Given the description of an element on the screen output the (x, y) to click on. 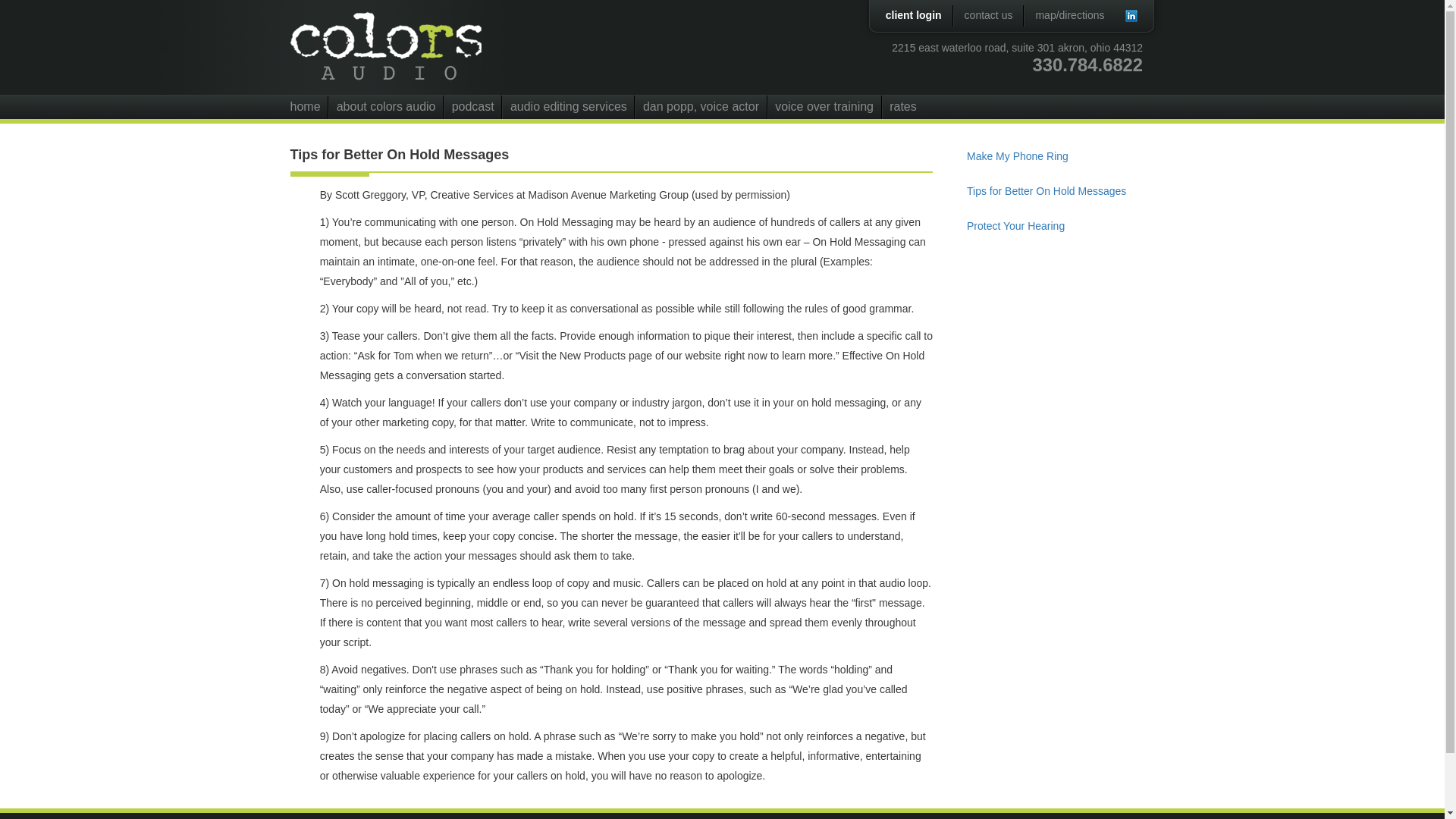
podcast (472, 106)
Contact Us (988, 15)
client login (913, 15)
Home (425, 47)
Protect Your Hearing (1054, 225)
Find Colors Audio on LinkedIn (1131, 15)
Client Login (913, 15)
Make My Phone Ring (1054, 155)
dan popp, voice actor (699, 106)
about colors audio (385, 106)
